Given the description of an element on the screen output the (x, y) to click on. 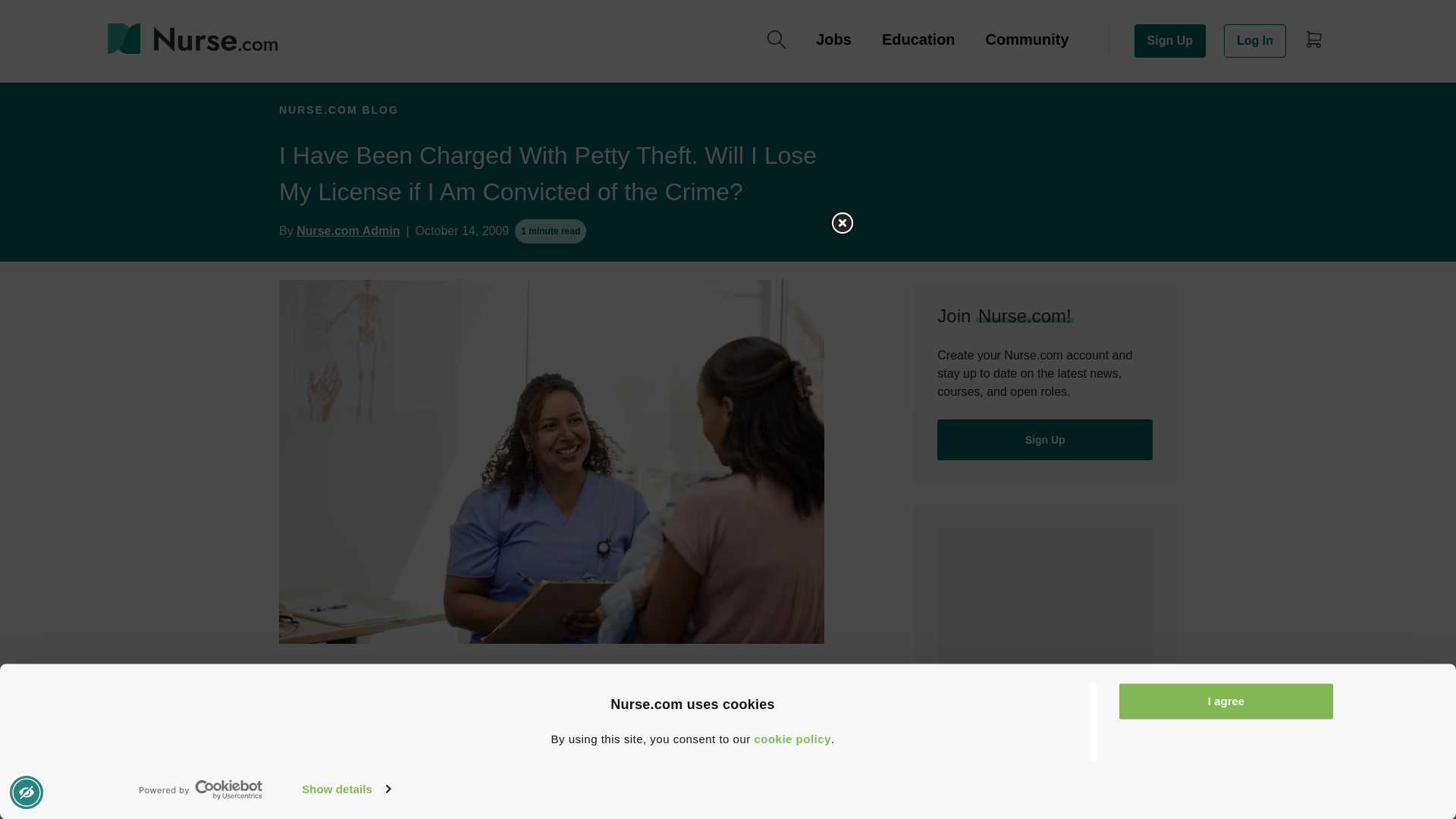
Show details (345, 789)
cookie policy (792, 739)
